Given the description of an element on the screen output the (x, y) to click on. 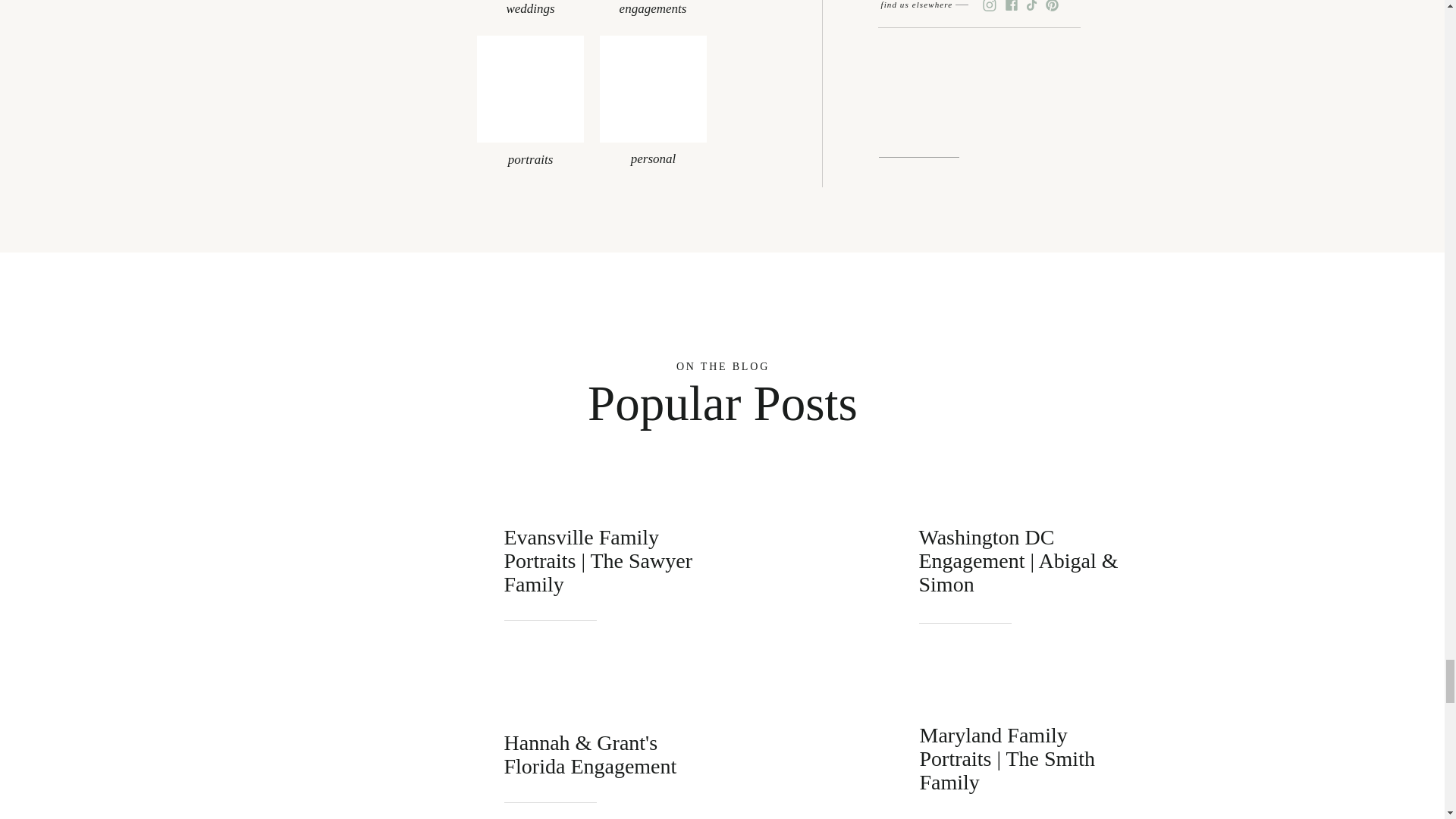
weddings (529, 4)
Facebook Copy-color Created with Sketch. (1010, 5)
portraits (529, 153)
engagements (653, 4)
Instagram-color Created with Sketch. (988, 5)
personal (651, 152)
